Given the description of an element on the screen output the (x, y) to click on. 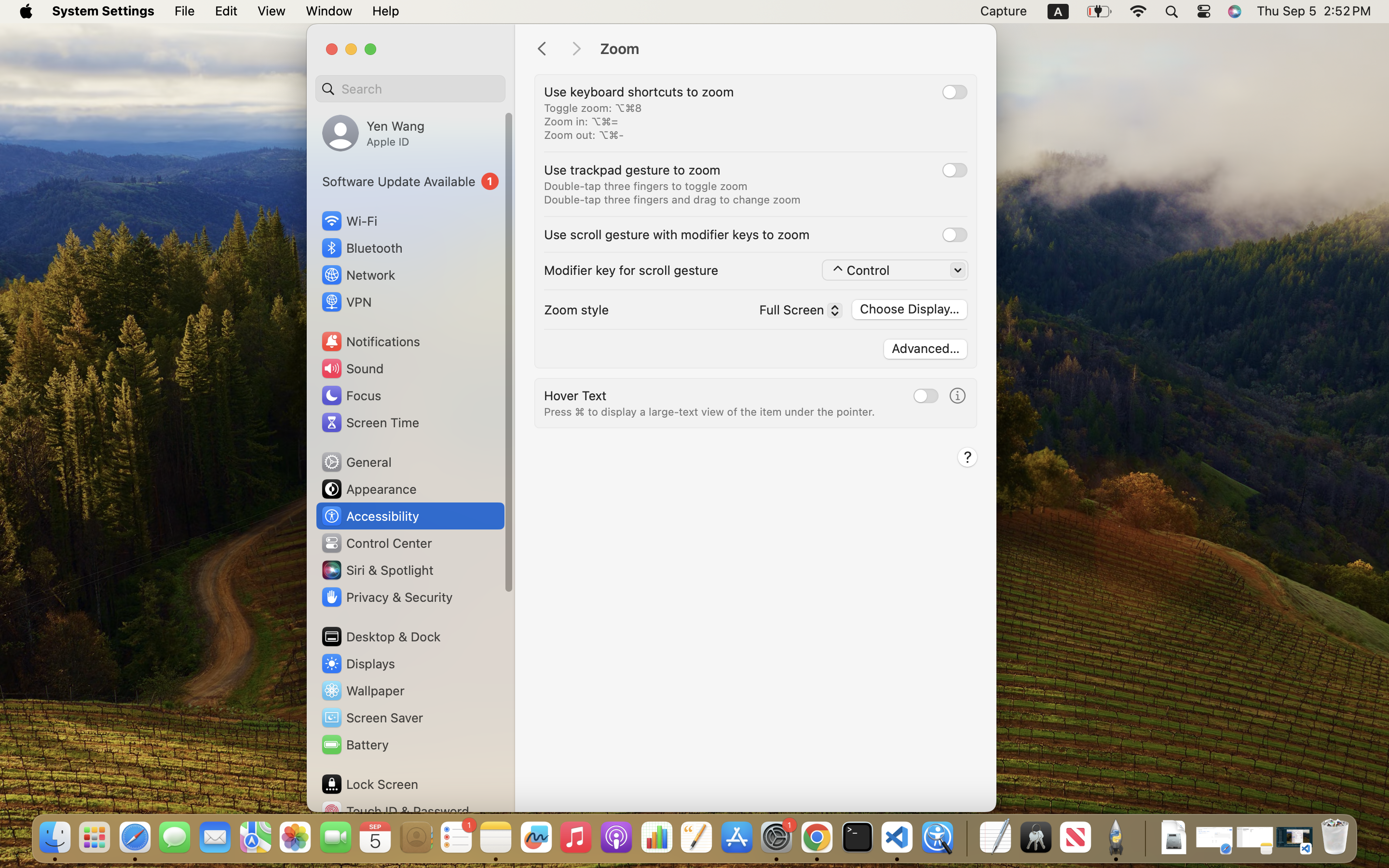
Screen Time Element type: AXStaticText (369, 422)
Notifications Element type: AXStaticText (370, 340)
Use trackpad gesture to zoom Element type: AXStaticText (632, 169)
Siri & Spotlight Element type: AXStaticText (376, 569)
Accessibility Element type: AXStaticText (369, 515)
